Given the description of an element on the screen output the (x, y) to click on. 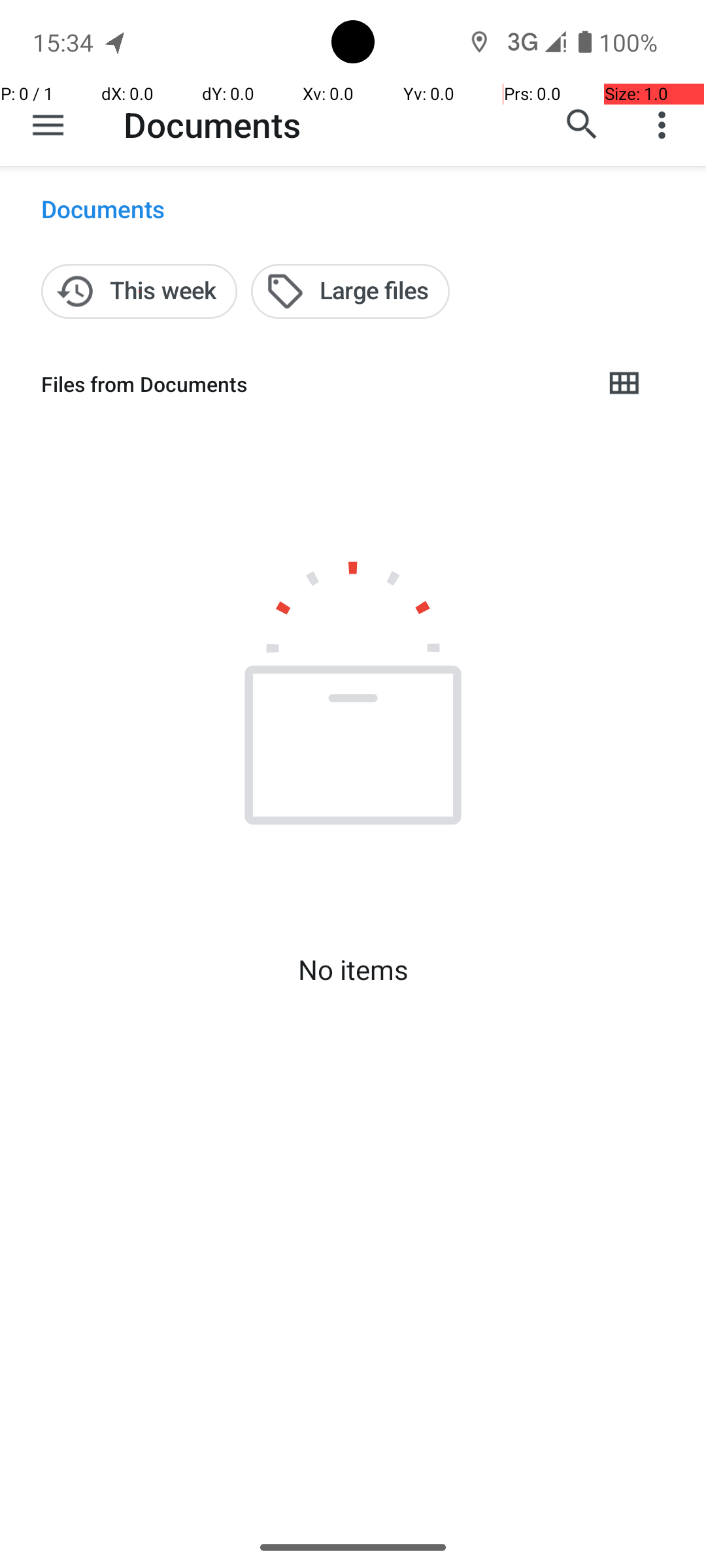
Files from Documents Element type: android.widget.TextView (311, 383)
